Given the description of an element on the screen output the (x, y) to click on. 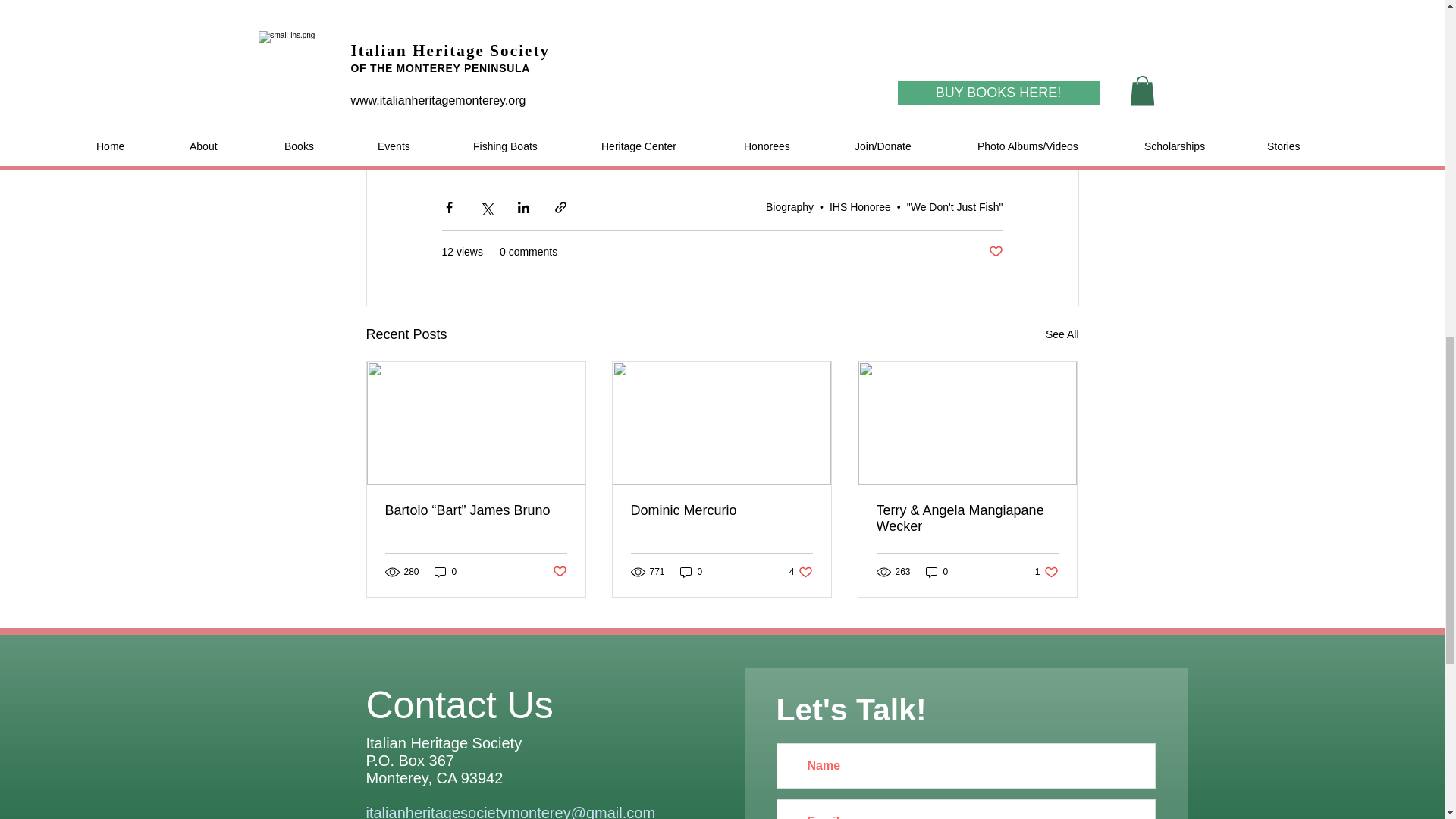
See All (1061, 334)
"We Don't Just Fish" (955, 205)
IHS Honoree (860, 205)
0 (691, 571)
Dominic Mercurio (721, 510)
Post not marked as liked (995, 252)
0 (445, 571)
Post not marked as liked (558, 571)
Biography (800, 571)
